Given the description of an element on the screen output the (x, y) to click on. 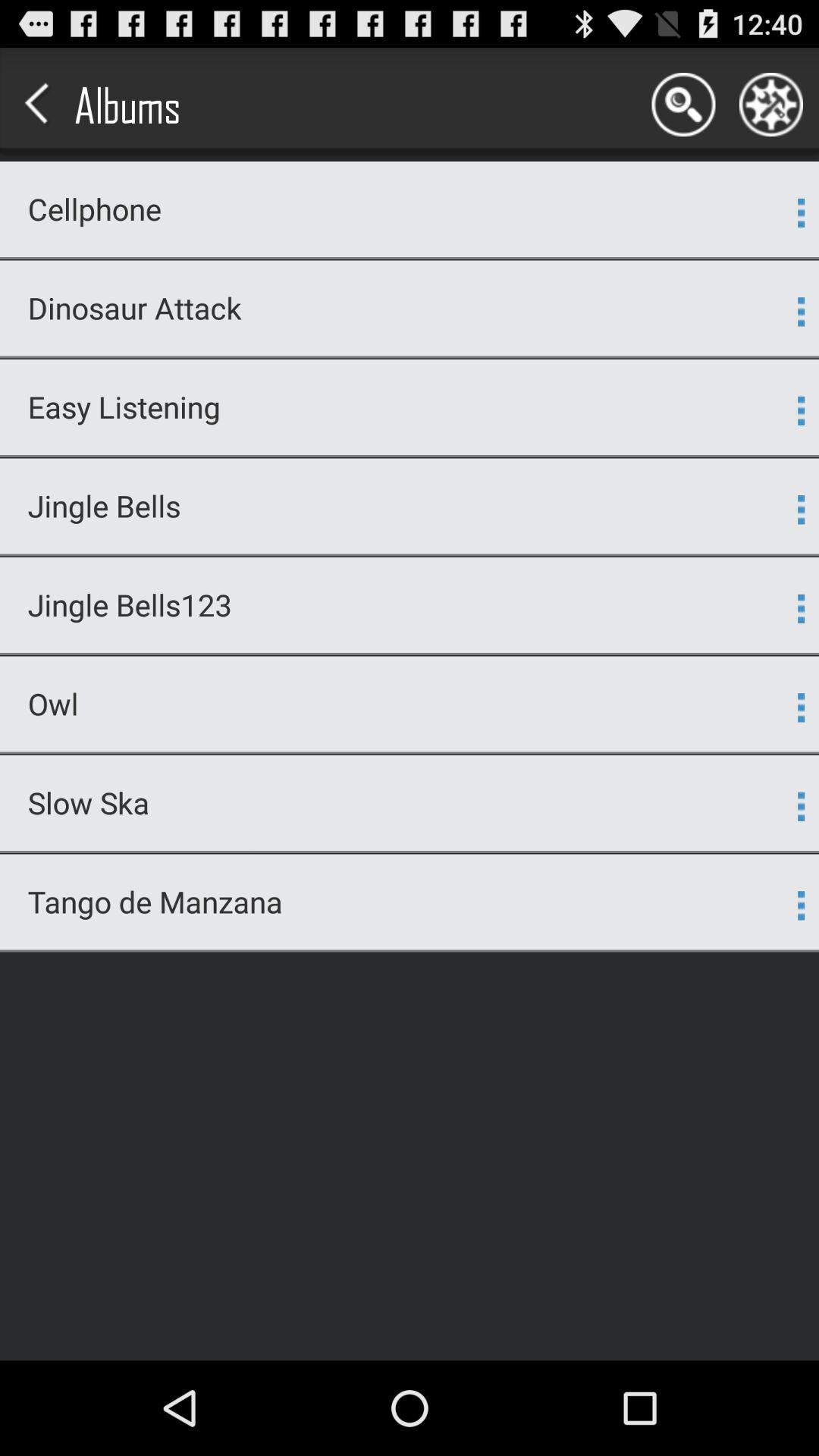
press icon next to jingle bells123 (800, 608)
